Given the description of an element on the screen output the (x, y) to click on. 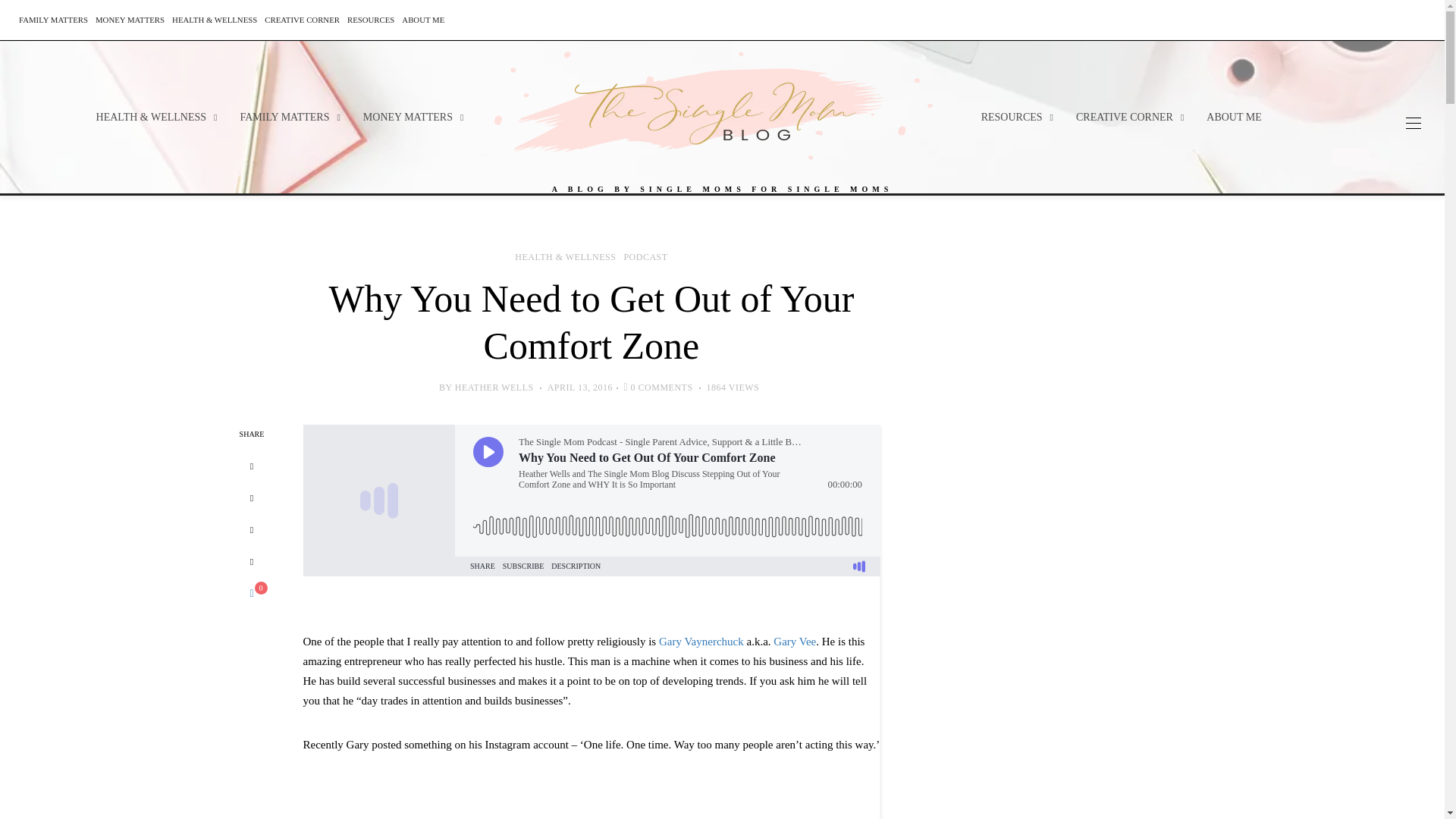
MONEY MATTERS (130, 19)
Advertisement (626, 798)
CREATIVE CORNER (301, 19)
Posts by Heather Wells (494, 387)
FAMILY MATTERS (52, 19)
A Blog By Single Moms for Single Moms (722, 109)
